Given the description of an element on the screen output the (x, y) to click on. 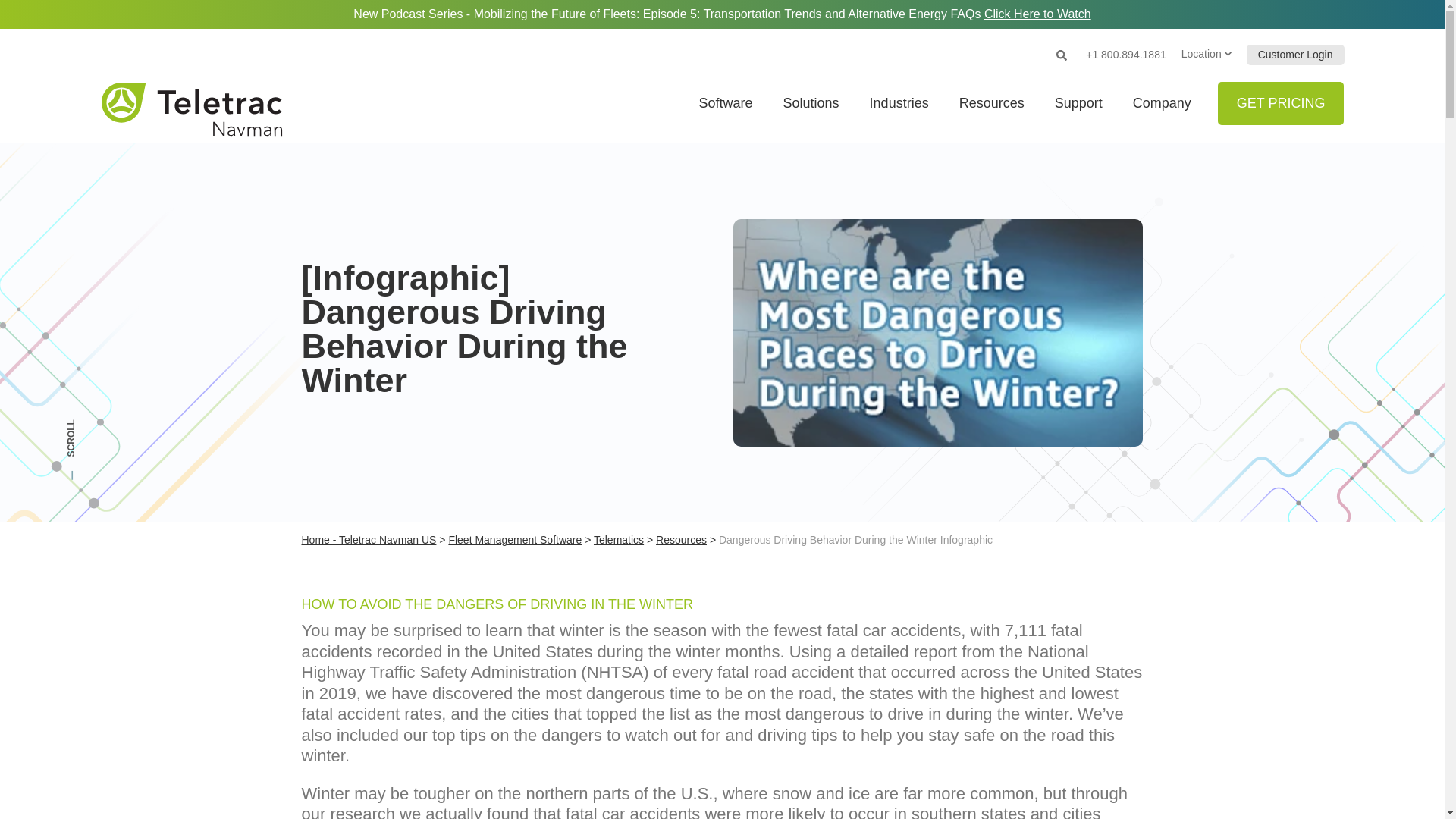
Location (1205, 55)
Click Here to Watch (1037, 13)
Customer Login (1294, 55)
Episode 5: Transportation Trends and Alternative Energy FAQs (1037, 13)
